Given the description of an element on the screen output the (x, y) to click on. 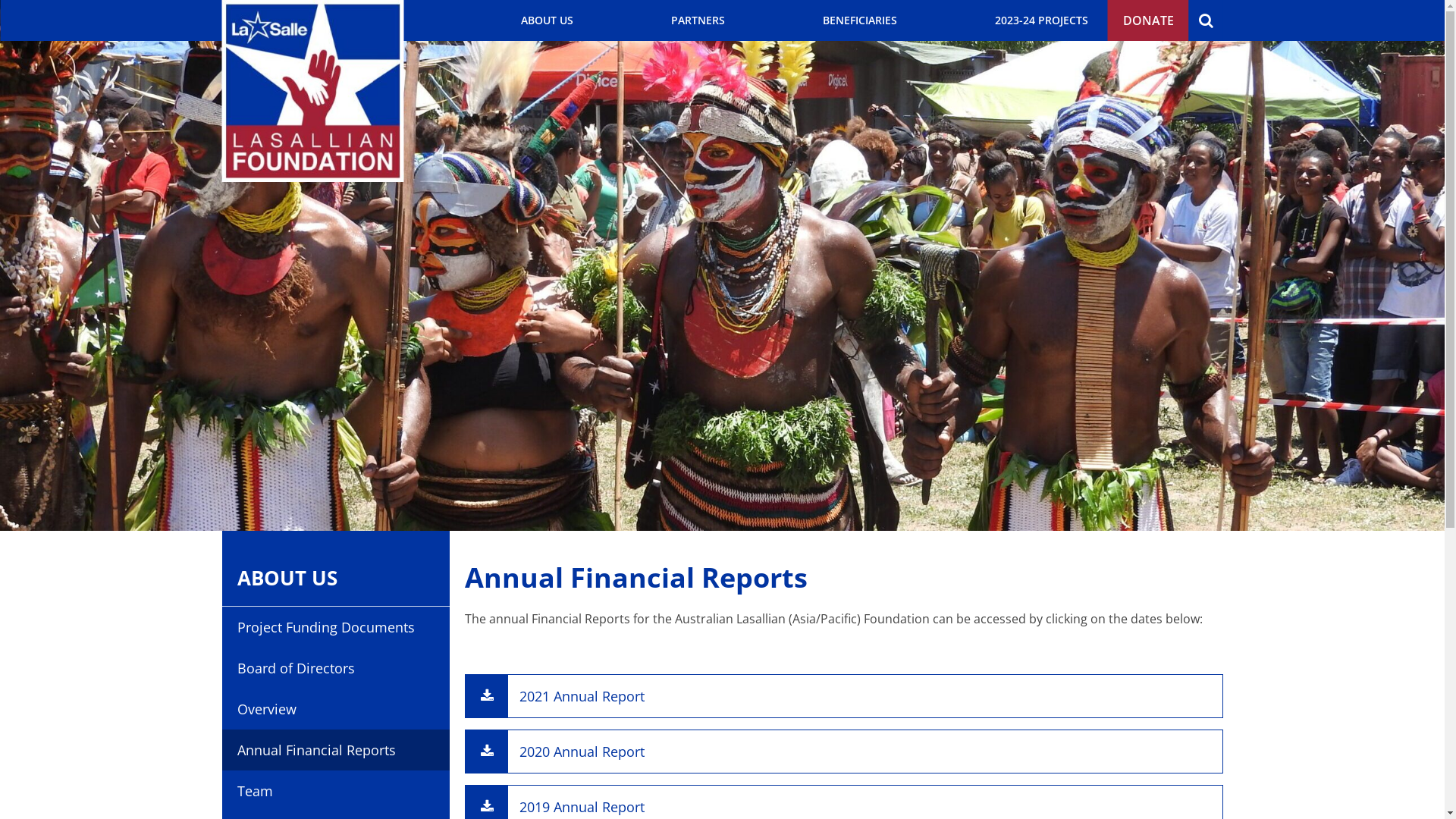
2023-24 PROJECTS Element type: text (1041, 20)
Overview Element type: text (334, 708)
DONATE Element type: text (1147, 20)
Project Funding Documents Element type: text (334, 626)
ABOUT US Element type: text (546, 20)
Board of Directors Element type: text (334, 667)
Annual Financial Reports Element type: text (334, 749)
BENEFICIARIES Element type: text (858, 20)
ABOUT US Element type: text (334, 577)
2020 Annual Report Element type: text (843, 751)
Team Element type: text (334, 790)
PARTNERS Element type: text (697, 20)
2021 Annual Report Element type: text (843, 696)
